Given the description of an element on the screen output the (x, y) to click on. 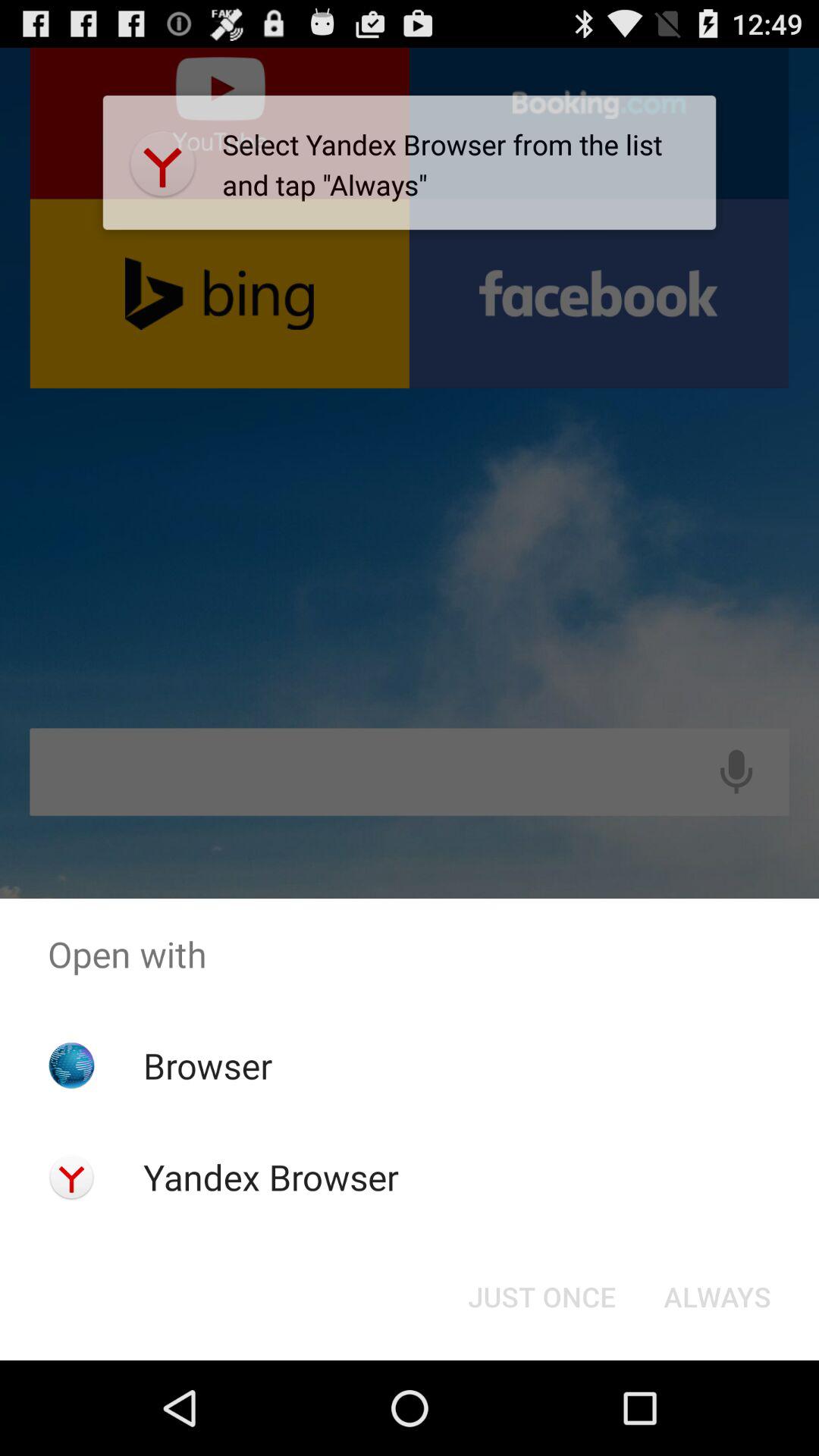
launch item next to just once button (717, 1296)
